Given the description of an element on the screen output the (x, y) to click on. 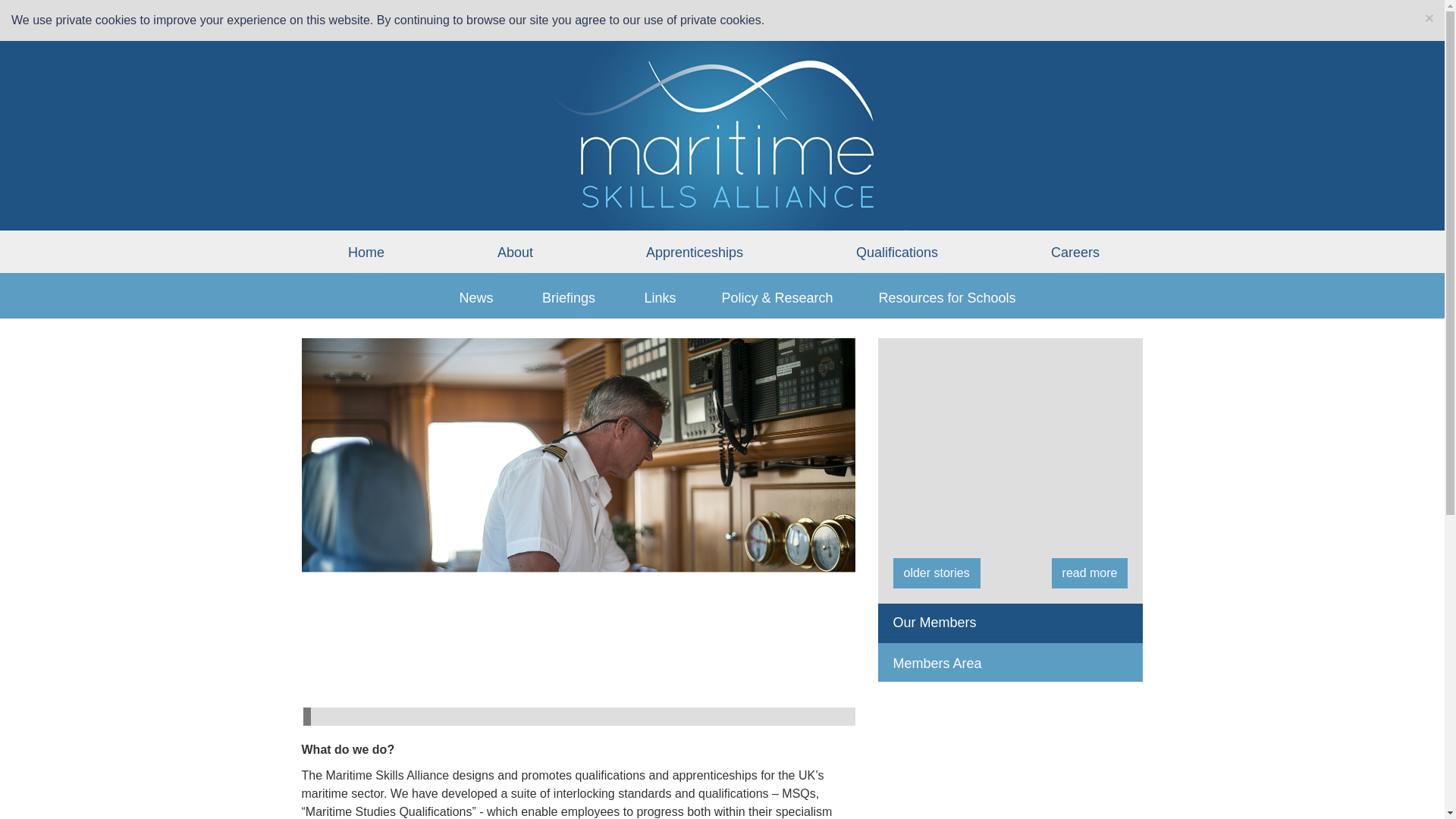
Resources for Schools (947, 297)
Briefings (568, 297)
Maritime Skills Alliance (721, 133)
Click to expand (926, 622)
About (515, 253)
Home (366, 253)
Apprenticeships (694, 253)
Qualifications (896, 253)
read more (1089, 572)
Links (659, 297)
News (475, 297)
Careers (1075, 253)
Our Members (926, 622)
older stories (936, 572)
